Given the description of an element on the screen output the (x, y) to click on. 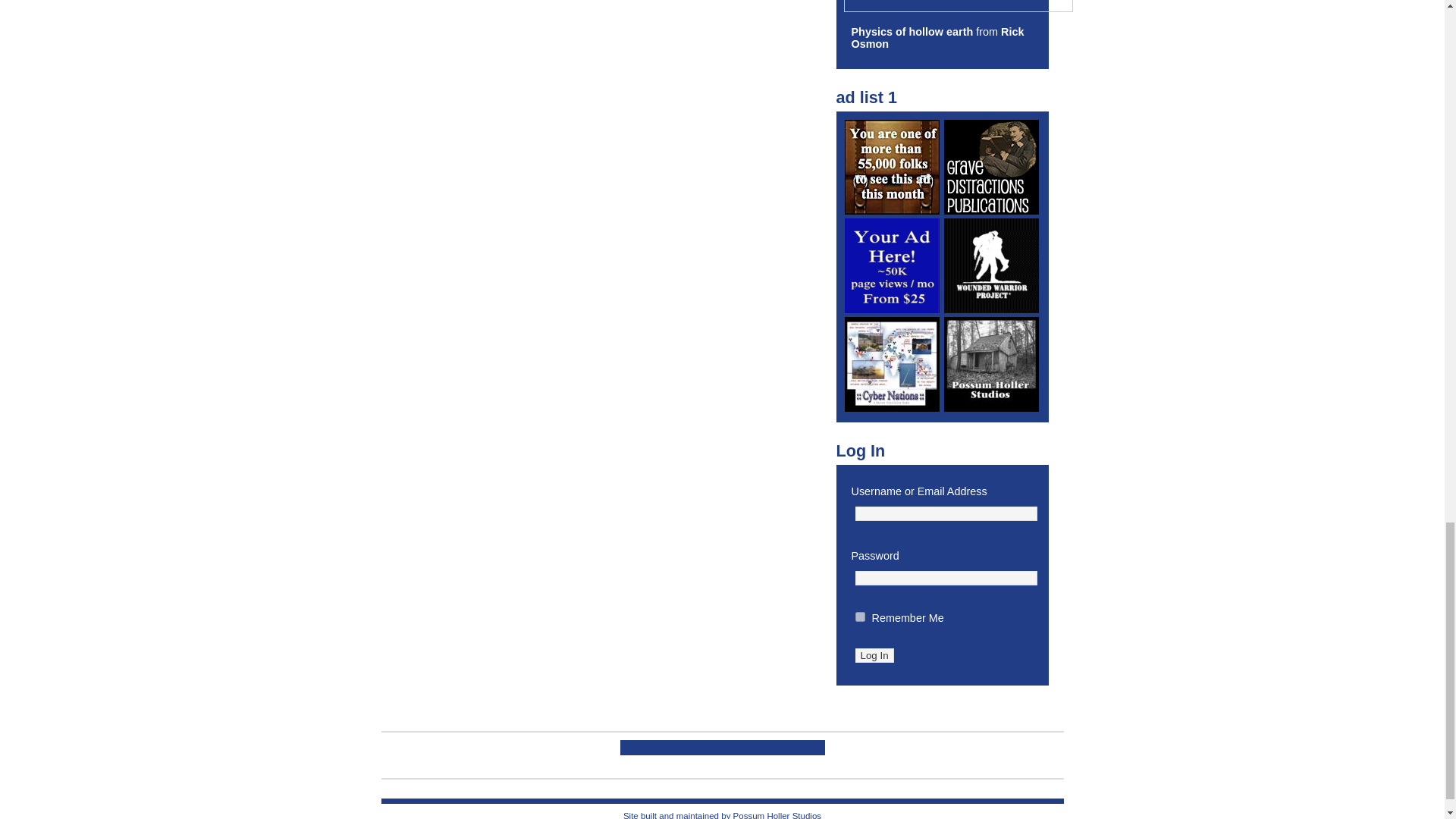
forever (860, 616)
Physics of Hollow Earth (911, 31)
Log In (874, 655)
